Given the description of an element on the screen output the (x, y) to click on. 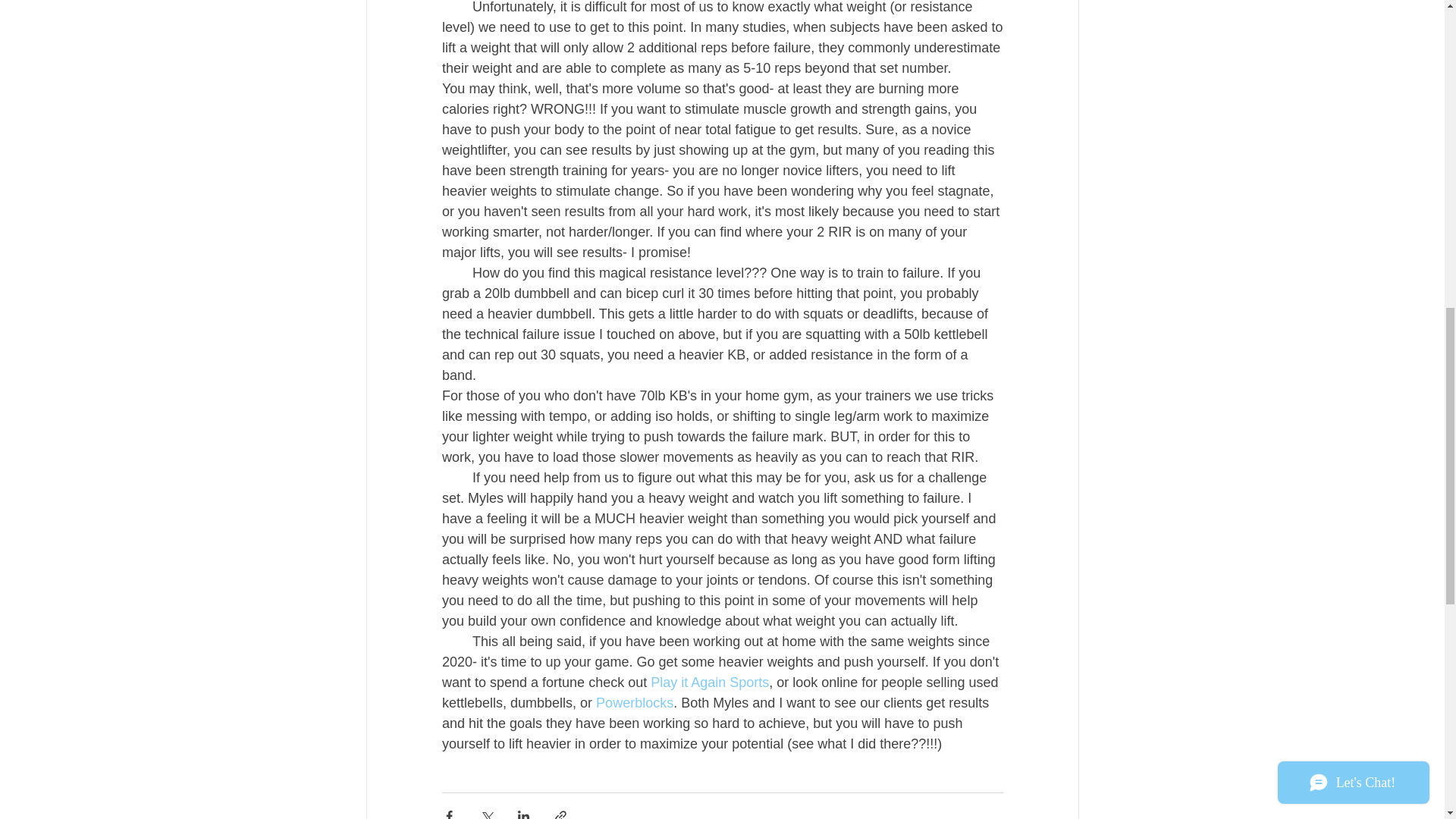
Powerblocks (633, 702)
Play it Again Sports (709, 682)
